Given the description of an element on the screen output the (x, y) to click on. 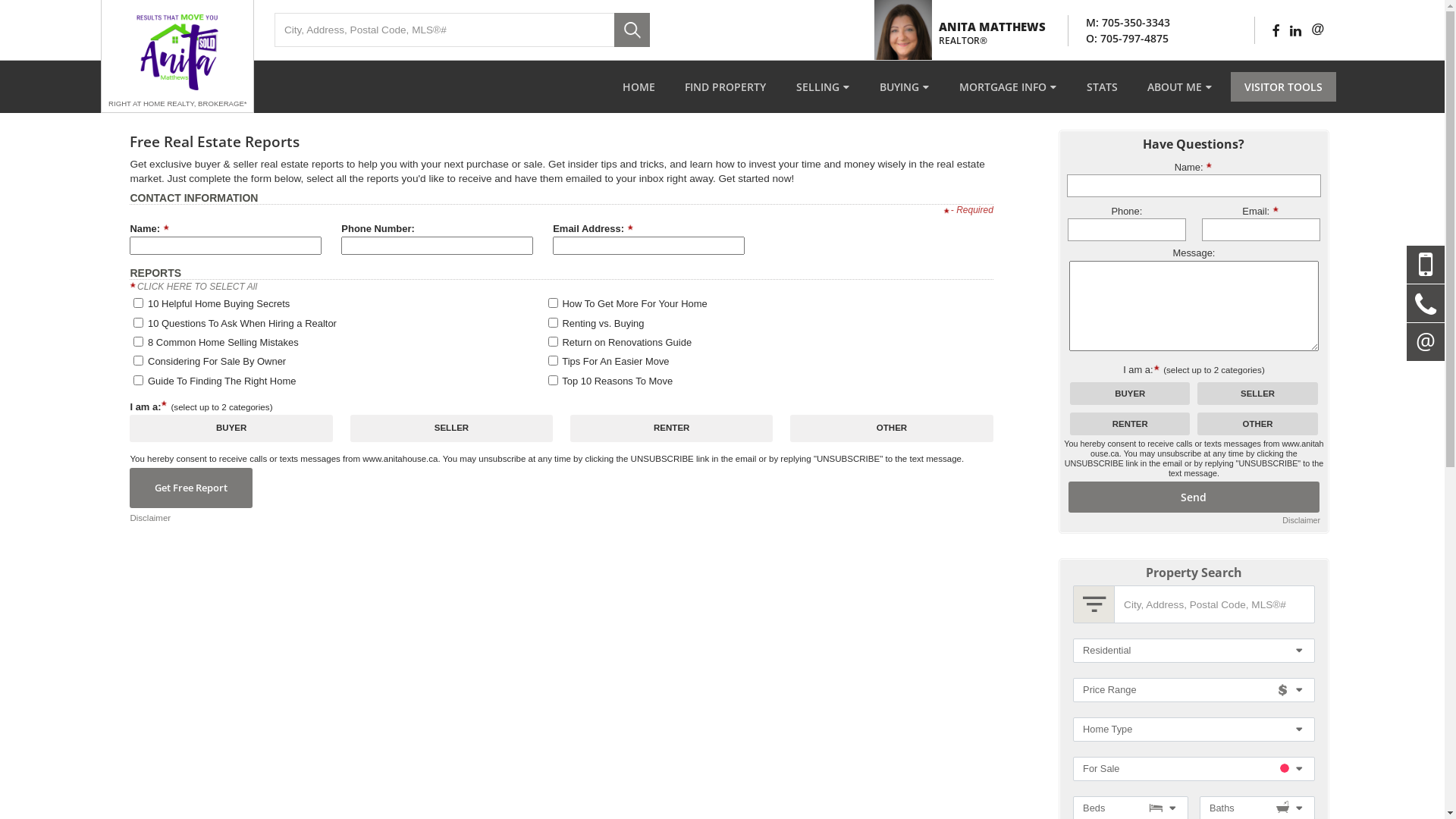
SELLING Element type: text (822, 86)
BUYER Element type: text (4, 4)
Disclaimer Element type: text (1301, 520)
CLICK HERE TO SELECT All Element type: text (197, 286)
  Element type: text (1425, 341)
  Element type: text (1425, 264)
STATS Element type: text (1102, 86)
HOME Element type: text (638, 86)
Send Element type: text (1193, 496)
Disclaimer Element type: text (149, 517)
VISITOR TOOLS Element type: text (1283, 86)
MORTGAGE INFO Element type: text (1007, 86)
Search Element type: text (631, 29)
Get Free Report Element type: text (190, 487)
Residential Element type: text (1193, 650)
  Element type: text (1425, 303)
For Sale Element type: text (1193, 768)
Search by Element type: text (1093, 604)
ABOUT ME Element type: text (1179, 86)
Price Range Element type: text (1193, 689)
FIND PROPERTY Element type: text (725, 86)
705-350-3343 Element type: text (1135, 22)
Home Type Element type: text (1193, 729)
@ Element type: text (1317, 28)
BUYING Element type: text (904, 86)
705-797-4875 Element type: text (1134, 38)
